Given the description of an element on the screen output the (x, y) to click on. 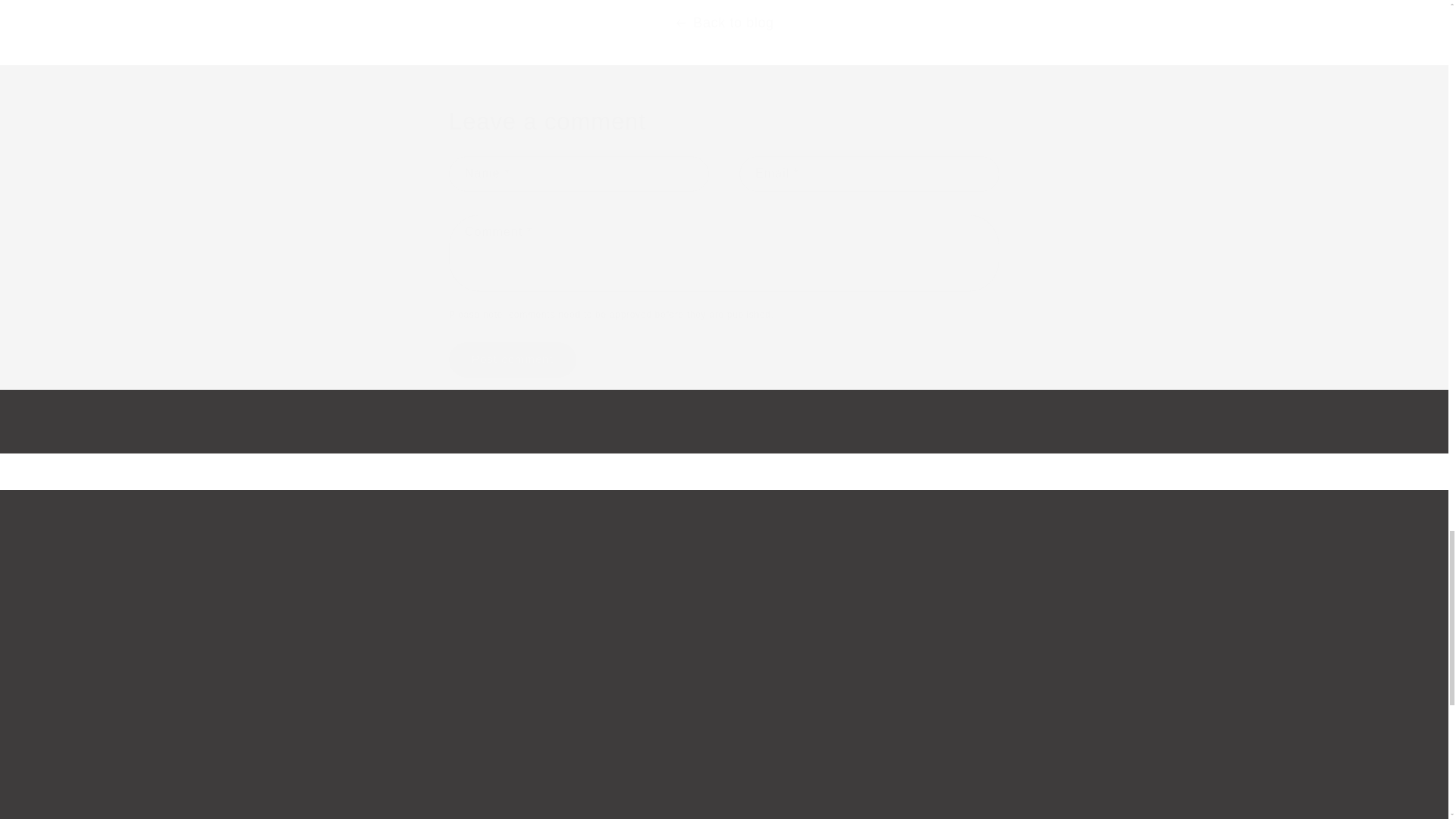
Customer Support and Contact (959, 793)
Post comment (512, 359)
